Given the description of an element on the screen output the (x, y) to click on. 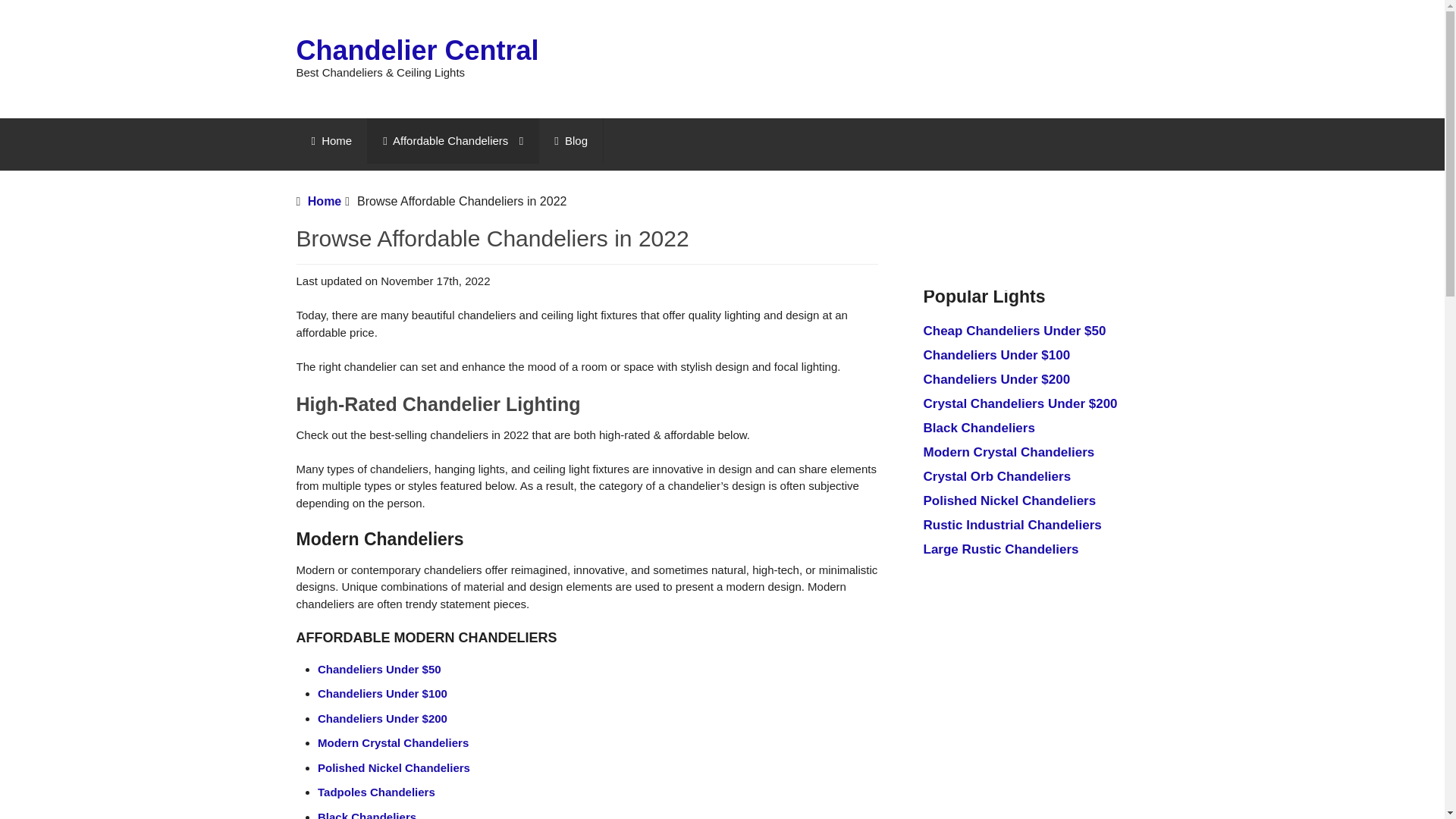
Chandelier Central (416, 50)
Home (330, 140)
Rustic Industrial Chandeliers (1012, 524)
Affordable Chandeliers (453, 140)
Modern Crystal Chandeliers (392, 742)
Black Chandeliers (366, 814)
Crystal Orb Chandeliers (997, 476)
Affordable Chandeliers (453, 140)
Home (330, 140)
Polished Nickel Chandeliers (393, 767)
Modern Crystal Chandeliers (1008, 452)
Tadpoles Chandeliers (376, 791)
Home (323, 201)
Black Chandeliers (979, 427)
Polished Nickel Chandeliers (1009, 500)
